Given the description of an element on the screen output the (x, y) to click on. 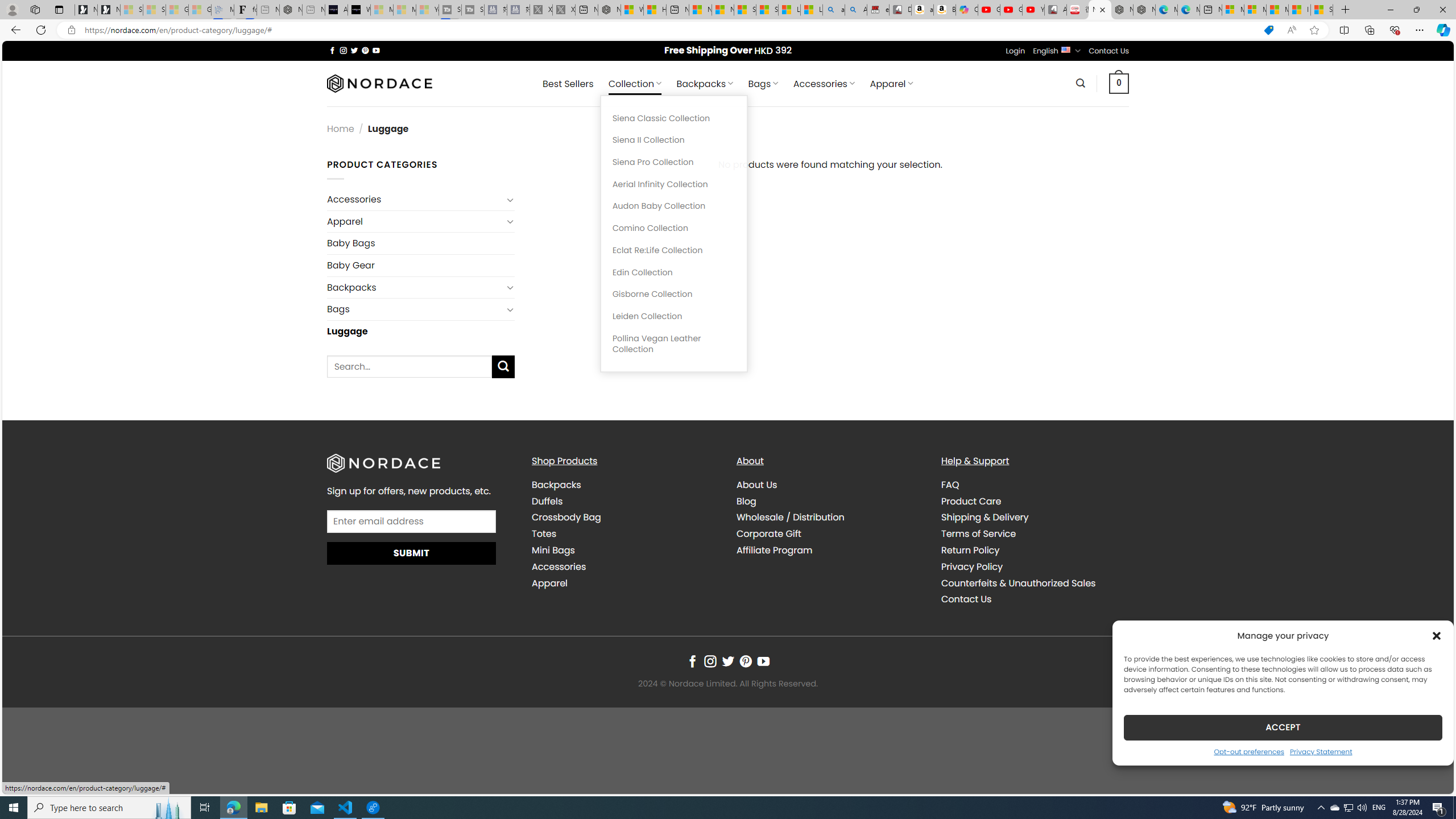
ACCEPT (1283, 727)
Corporate Gift (830, 533)
Tab actions menu (58, 9)
Read aloud this page (Ctrl+Shift+U) (1291, 29)
Accessories (558, 566)
Crossbody Bag (625, 517)
Totes (543, 533)
Apparel (625, 583)
Baby Bags (421, 242)
FAQ (949, 484)
Search (1079, 83)
Corporate Gift (768, 533)
Counterfeits & Unauthorized Sales (1018, 582)
Privacy Statement (1321, 750)
Blog (830, 501)
